Given the description of an element on the screen output the (x, y) to click on. 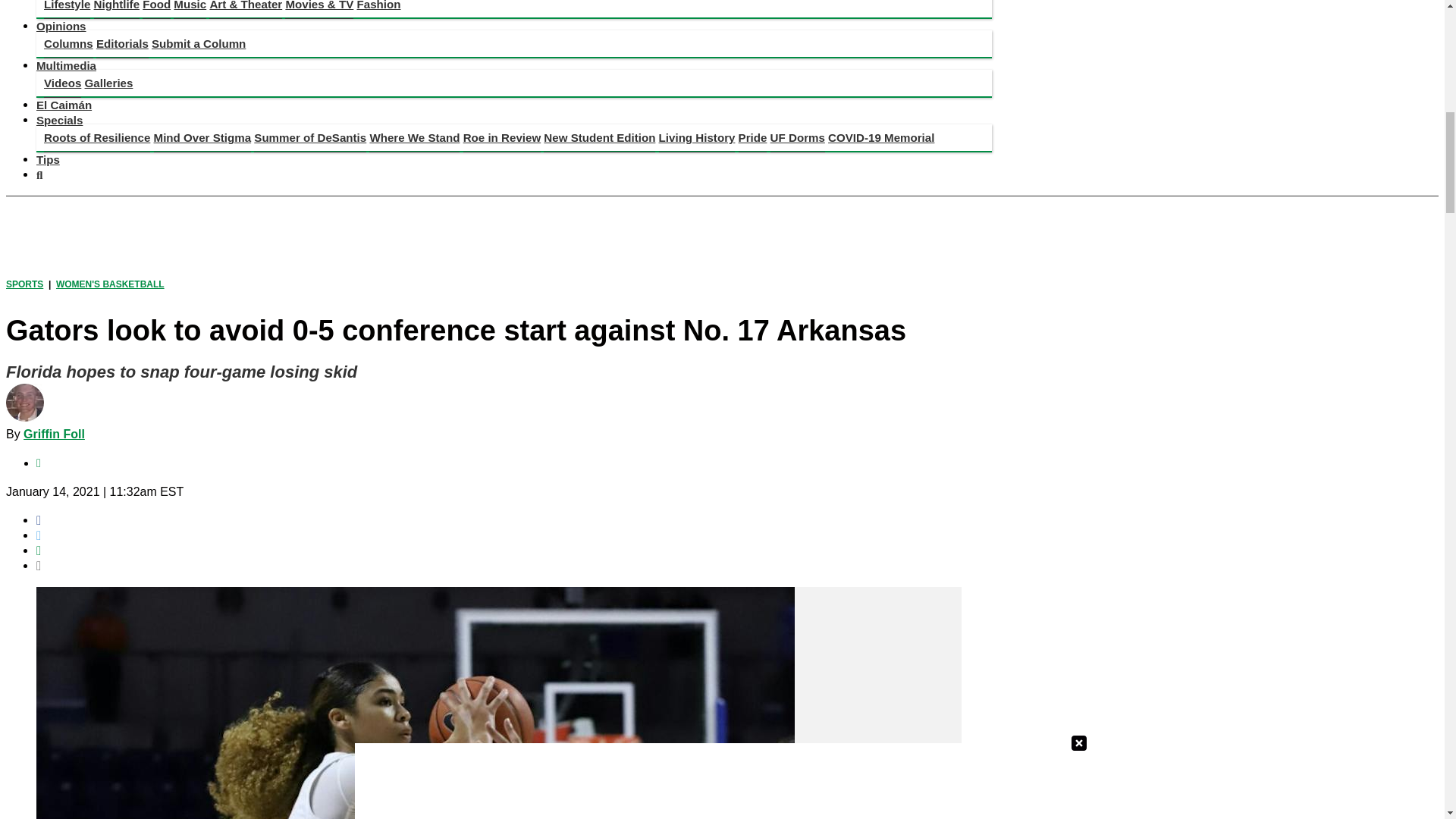
Tips (47, 159)
